Given the description of an element on the screen output the (x, y) to click on. 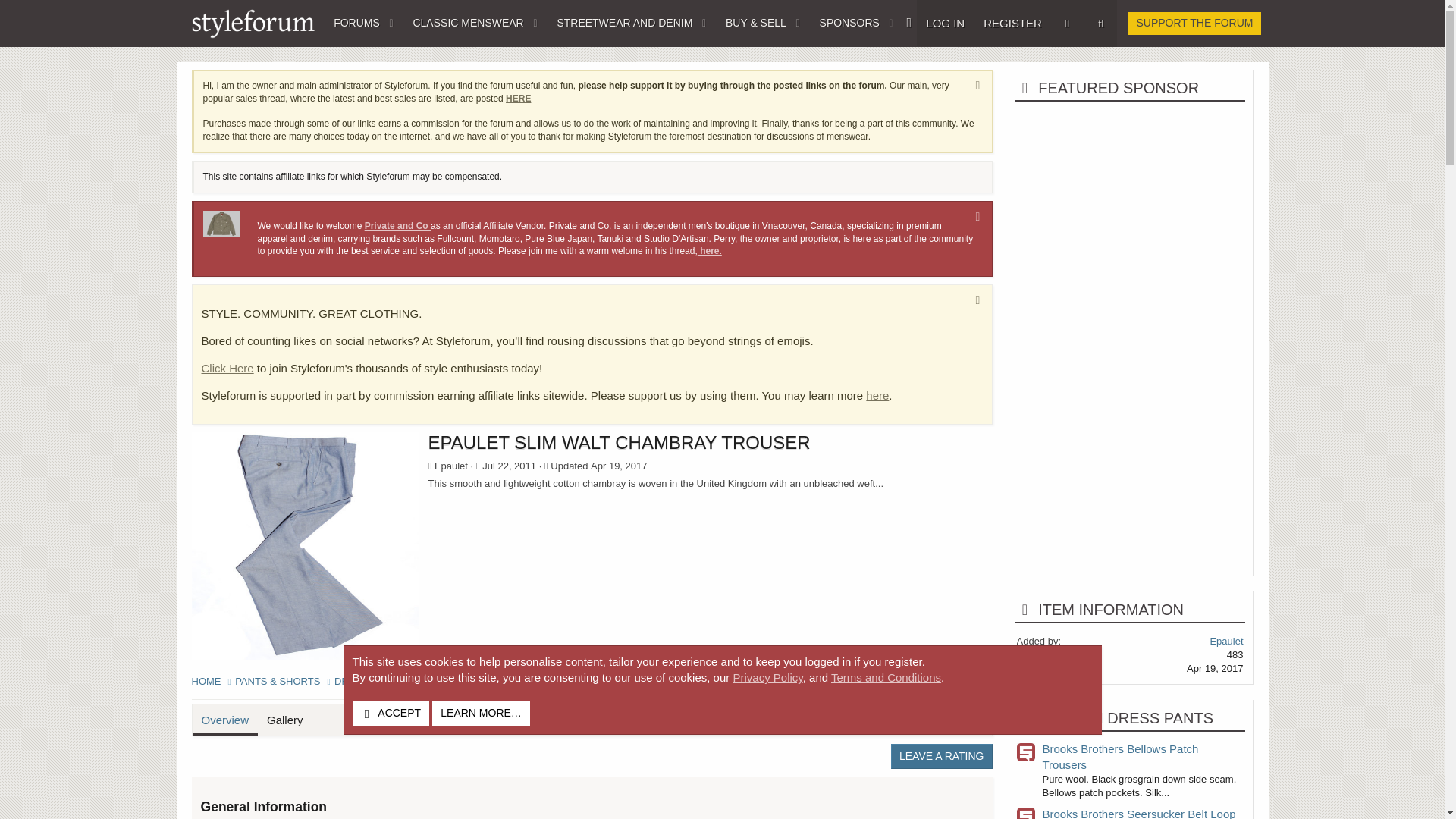
STREETWEAR AND DENIM (619, 22)
CLASSIC MENSWEAR (462, 22)
Apr 19, 2017 at 10:27 AM (618, 465)
Overview Gallery (252, 736)
SPONSORS (844, 22)
Jul 22, 2011 at 1:56 PM (508, 465)
FORUMS (351, 22)
